Given the description of an element on the screen output the (x, y) to click on. 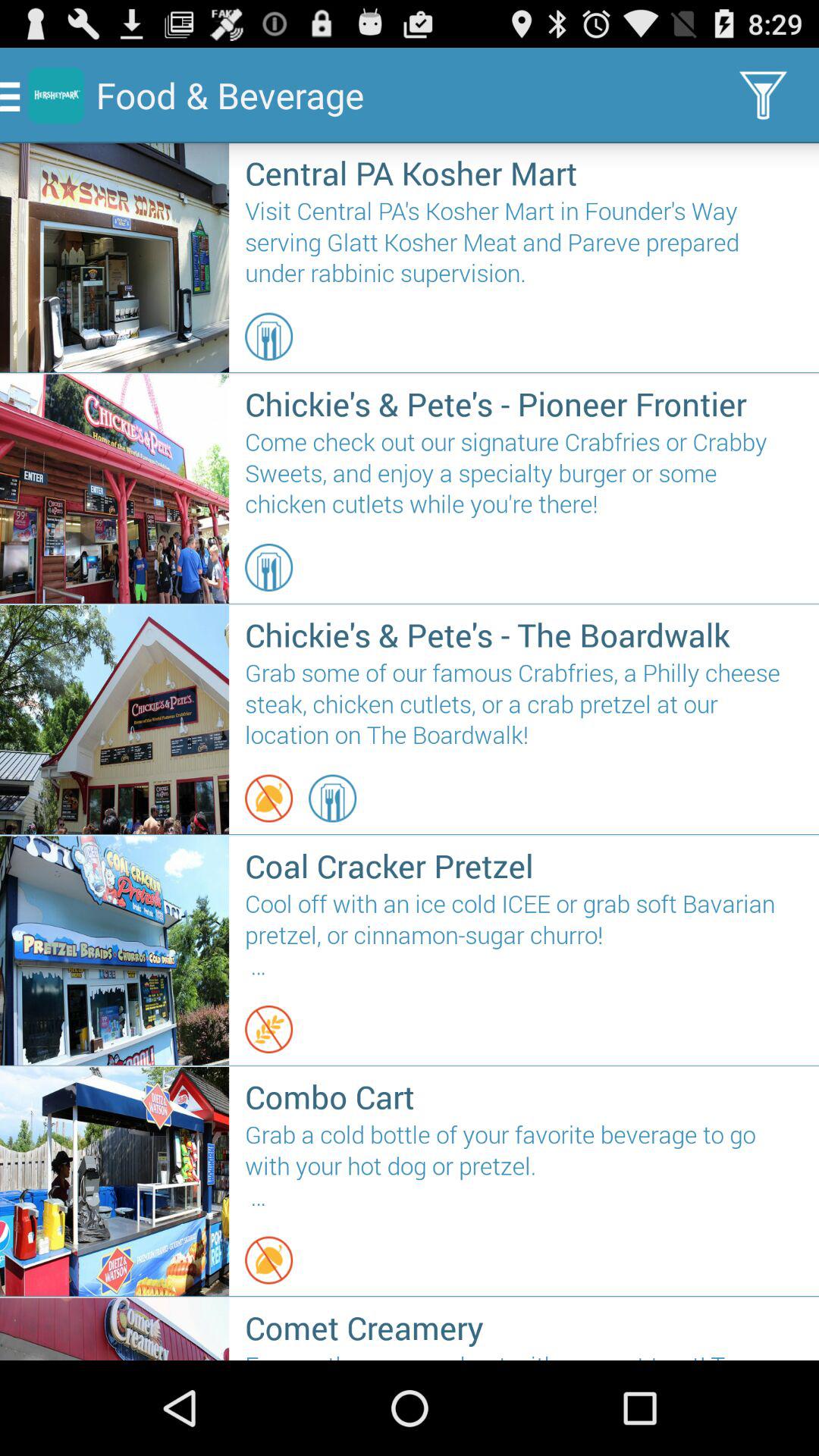
select icon above comet creamery icon (268, 1260)
